Given the description of an element on the screen output the (x, y) to click on. 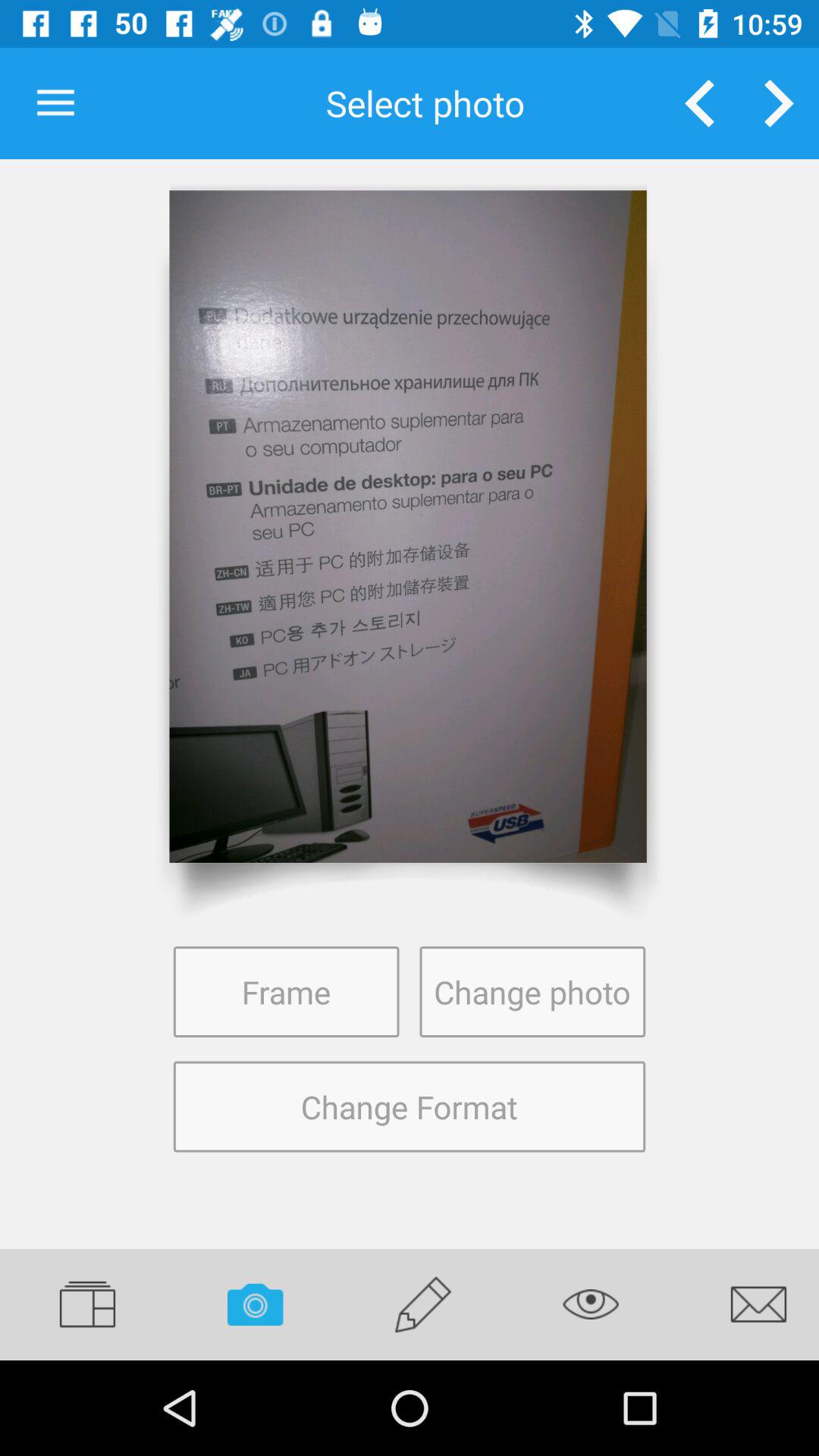
click icon below change format item (591, 1304)
